Given the description of an element on the screen output the (x, y) to click on. 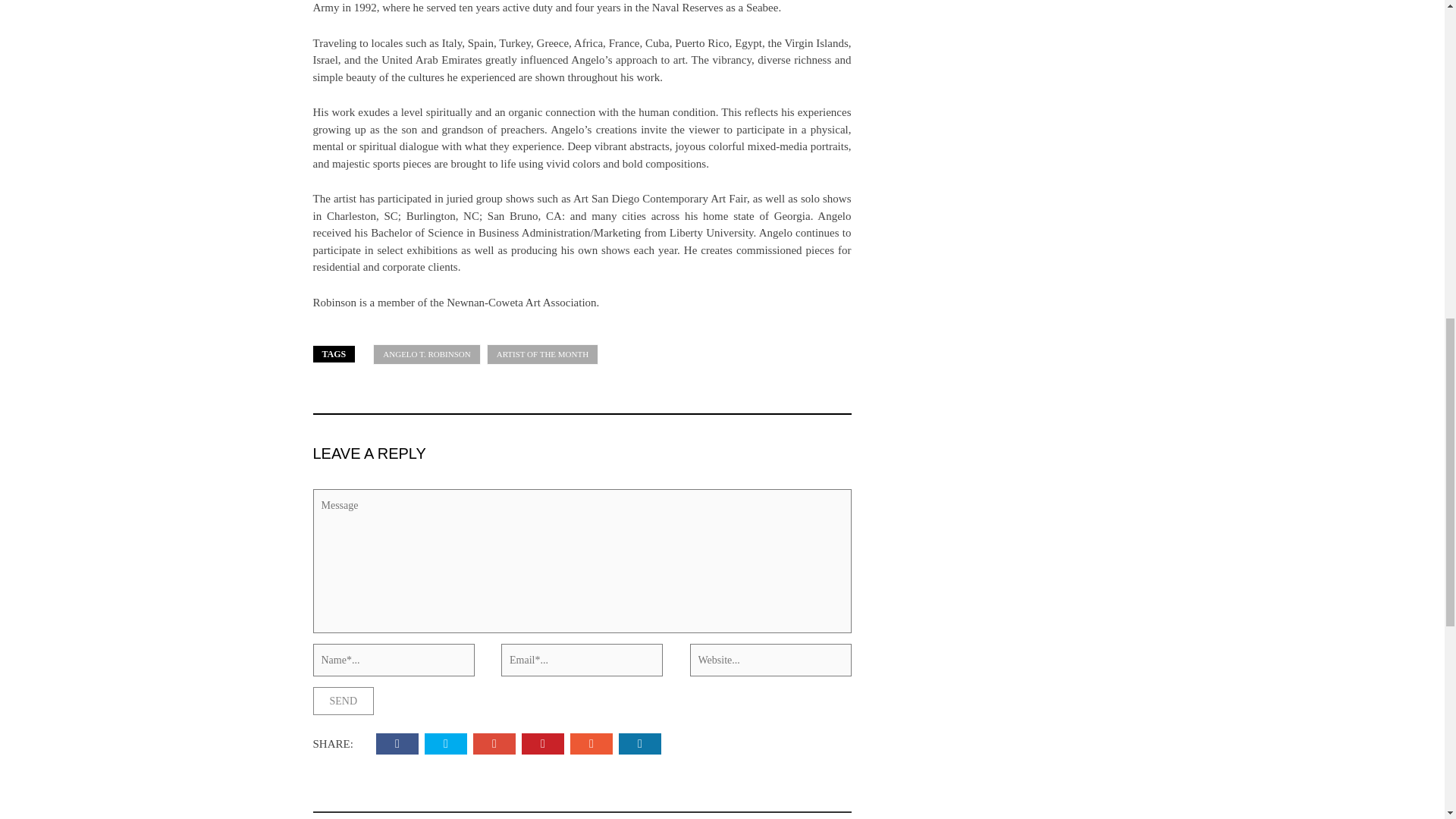
View all posts tagged Angelo T. Robinson (426, 353)
Send (343, 700)
View all posts tagged Artist of the Month (542, 353)
